Given the description of an element on the screen output the (x, y) to click on. 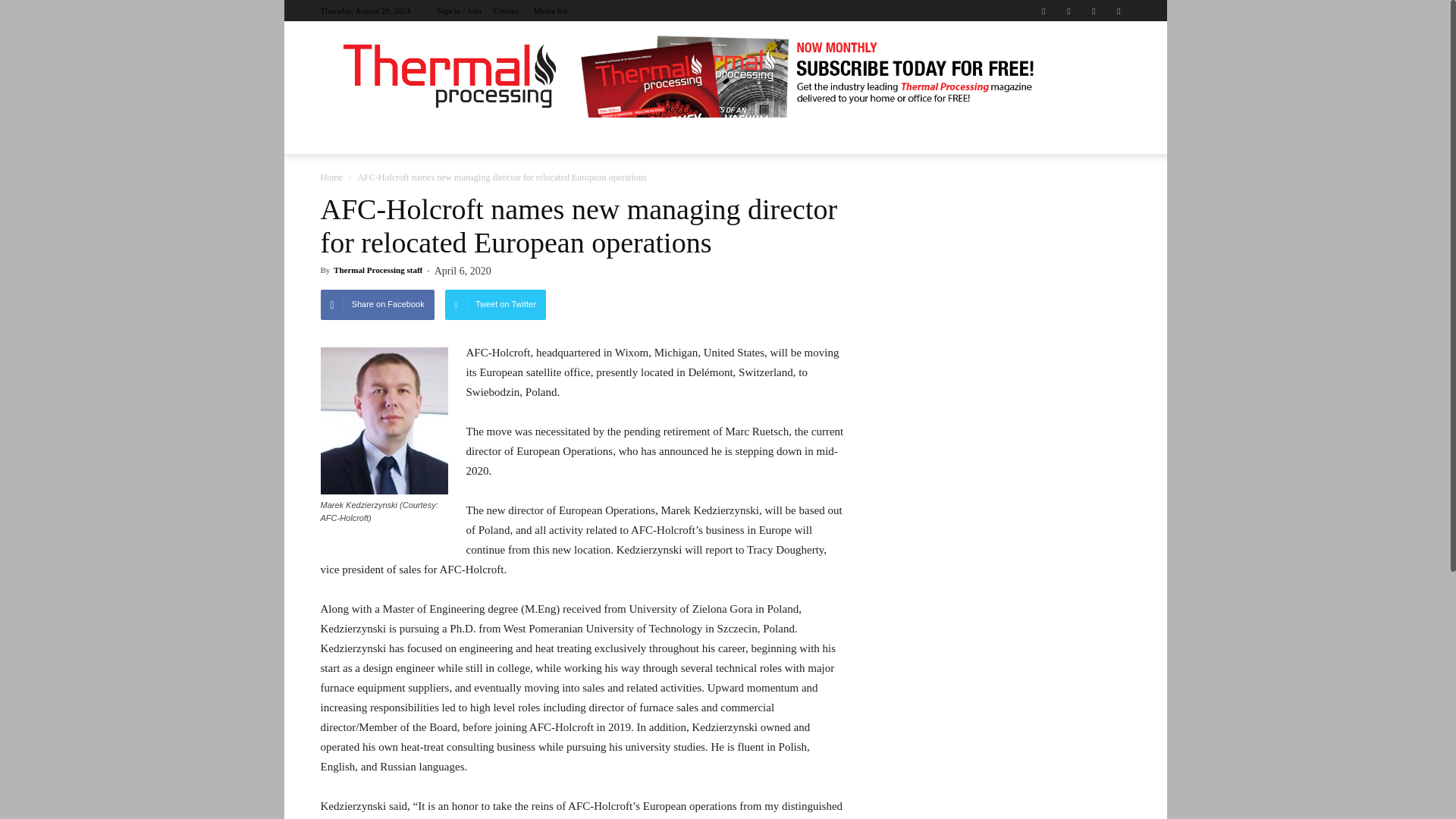
Facebook (1043, 10)
Twitter (1117, 10)
Contact (506, 10)
Media Kit (550, 10)
RSS (1093, 10)
Linkedin (1068, 10)
